Given the description of an element on the screen output the (x, y) to click on. 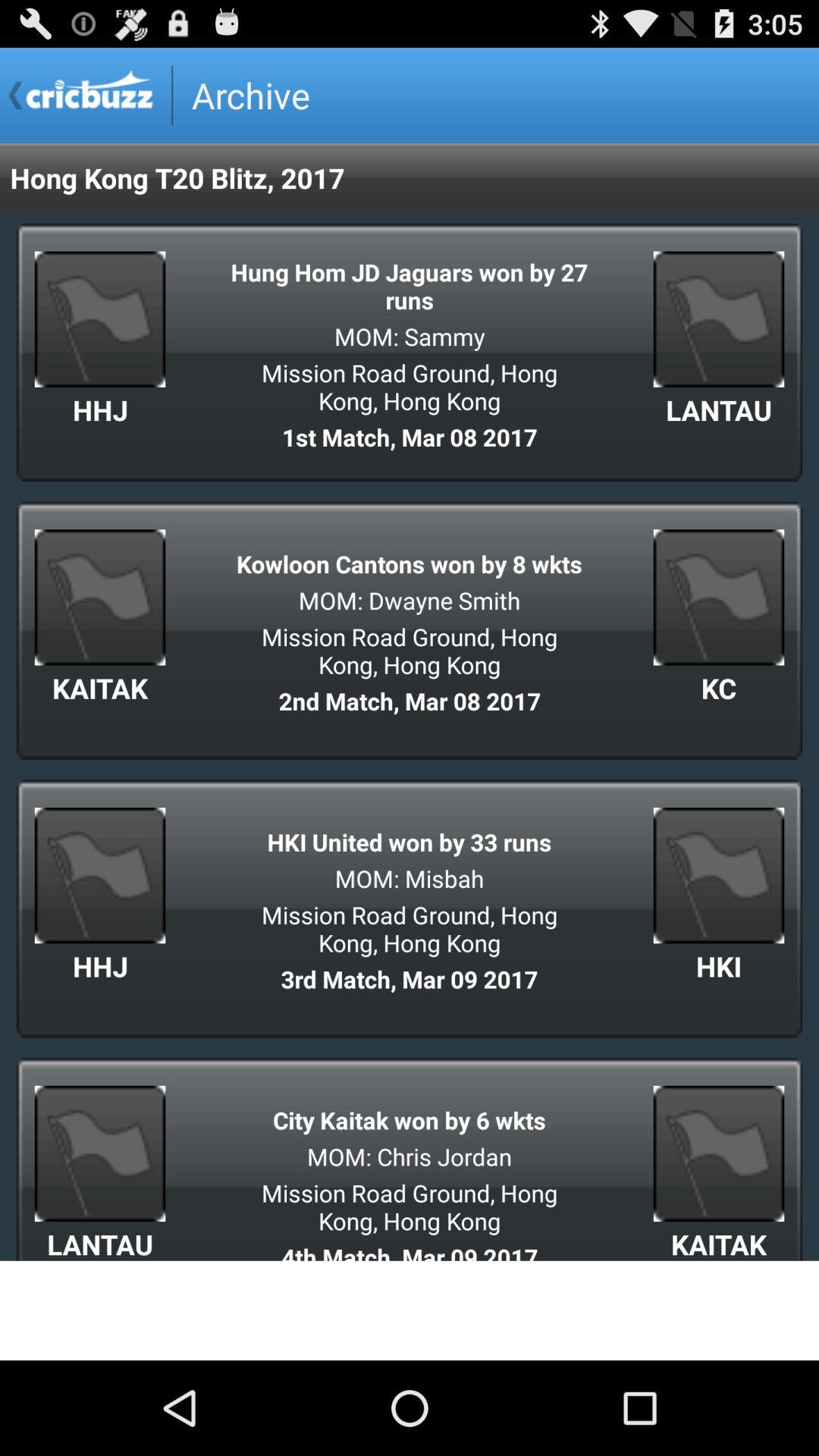
turn off kowloon cantons won (409, 563)
